Given the description of an element on the screen output the (x, y) to click on. 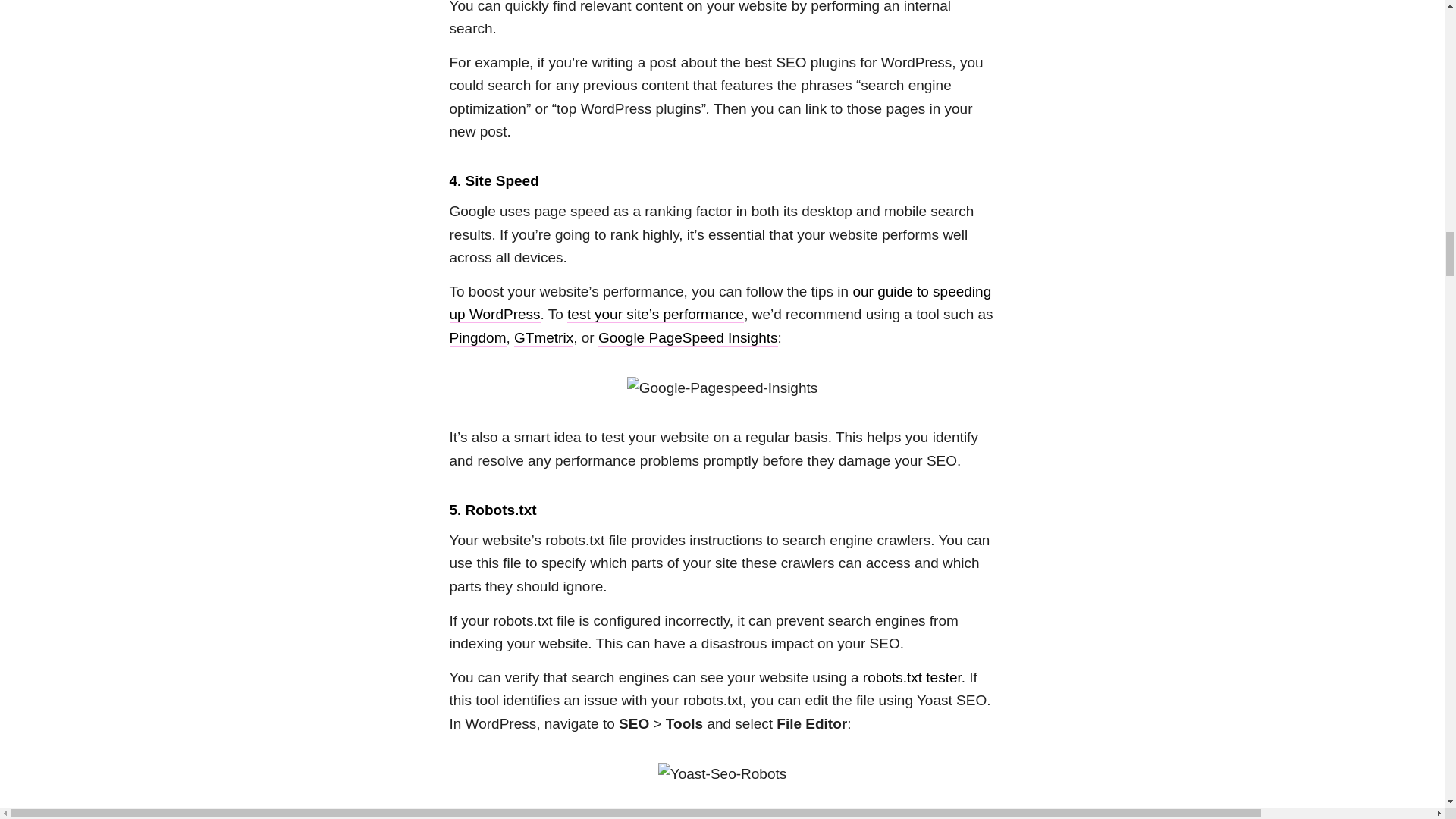
Google-Pagespeed-Insights (722, 387)
Yoast-Seo-Robots (722, 773)
